Given the description of an element on the screen output the (x, y) to click on. 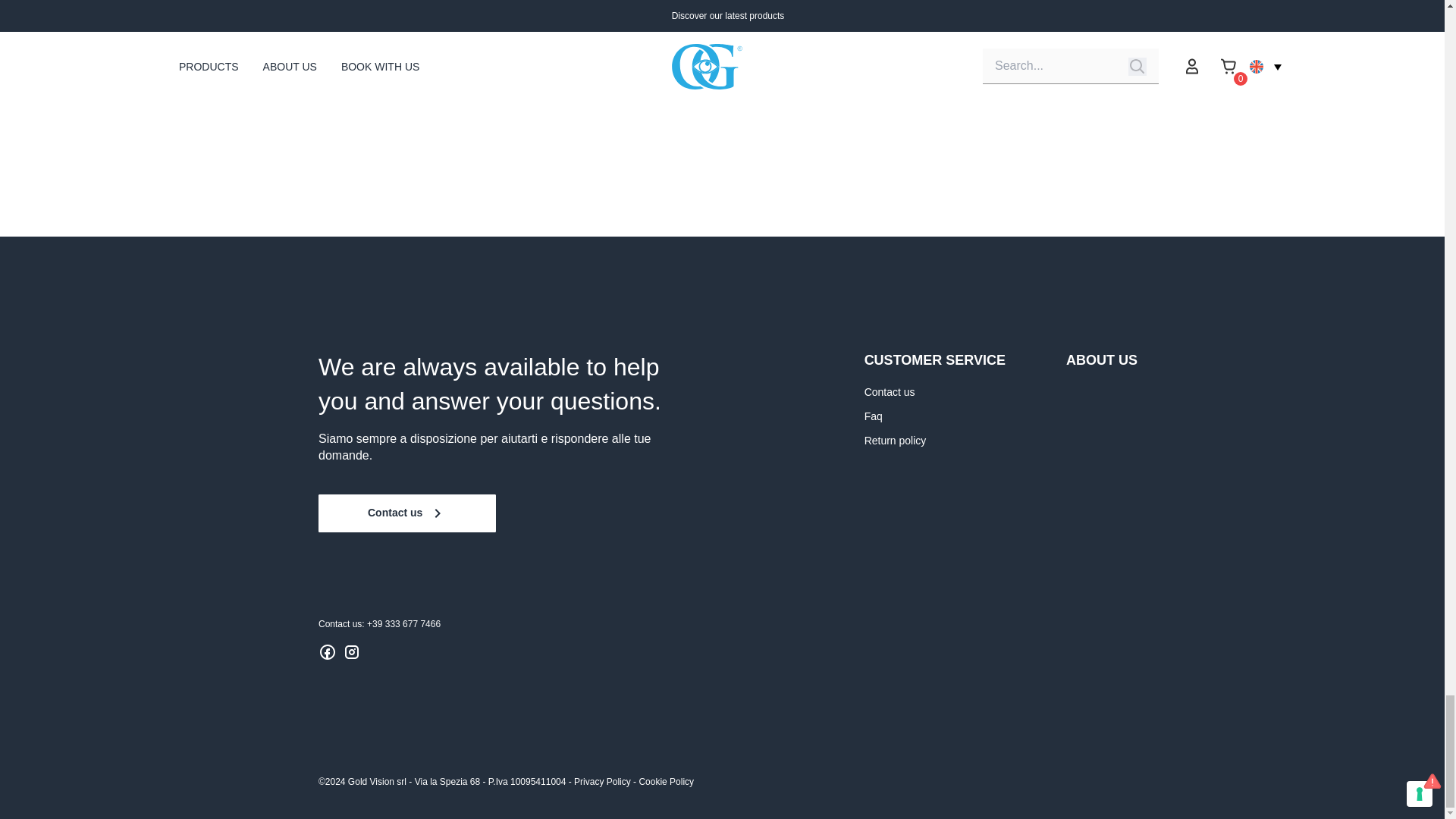
Faq (873, 416)
Contact us (889, 391)
Contact us (407, 513)
Return policy (895, 440)
